Given the description of an element on the screen output the (x, y) to click on. 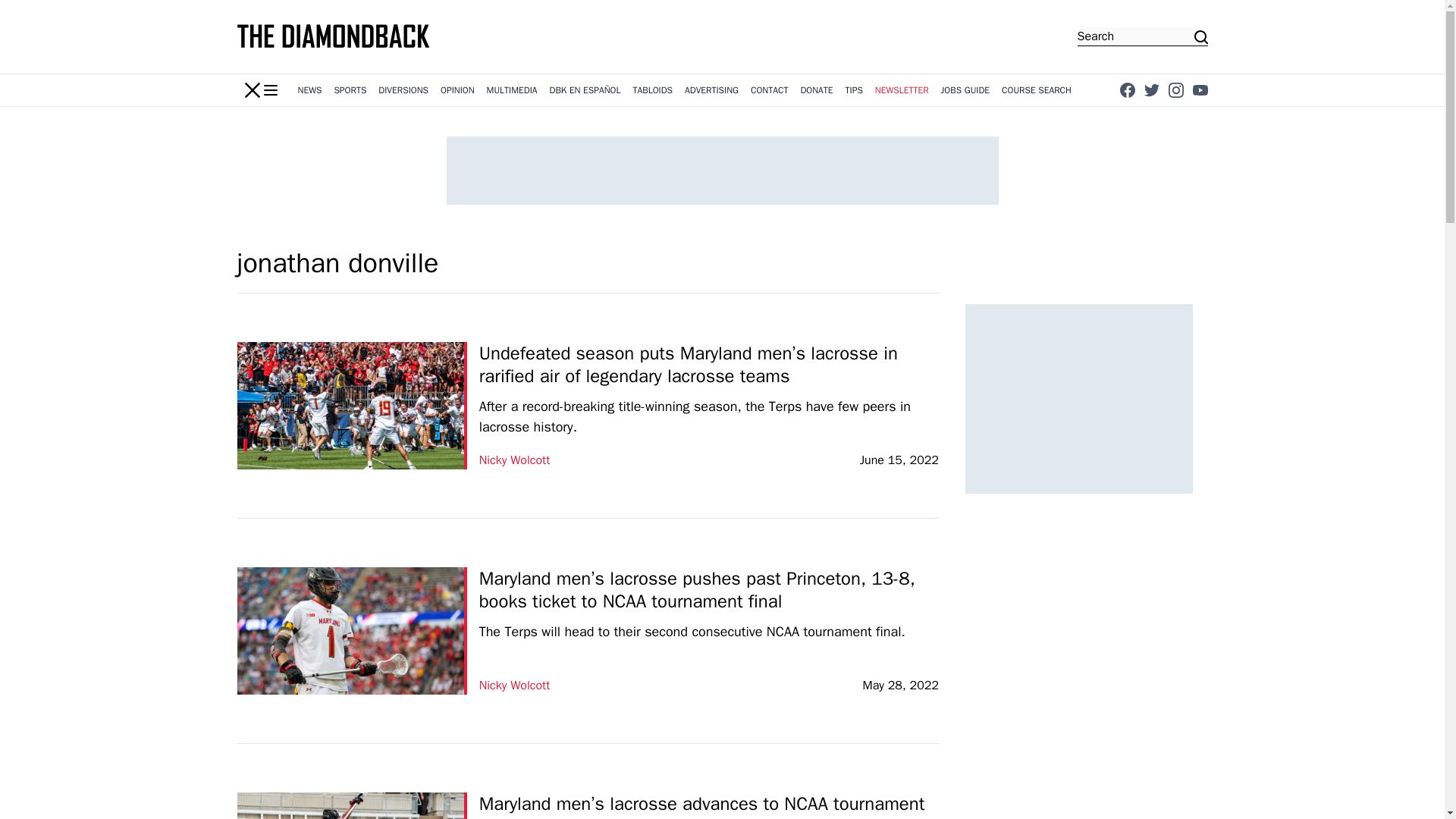
ADVERTISING (711, 90)
CONTACT (768, 90)
DIVERSIONS (402, 90)
COURSE SEARCH (1036, 90)
SPORTS (349, 90)
DONATE (815, 90)
JOBS GUIDE (964, 90)
Tips (854, 90)
Contact (768, 90)
Opinion (456, 90)
TABLOIDS (652, 90)
Donate (815, 90)
NEWSLETTER (901, 90)
Advertising (711, 90)
Sports (349, 90)
